Given the description of an element on the screen output the (x, y) to click on. 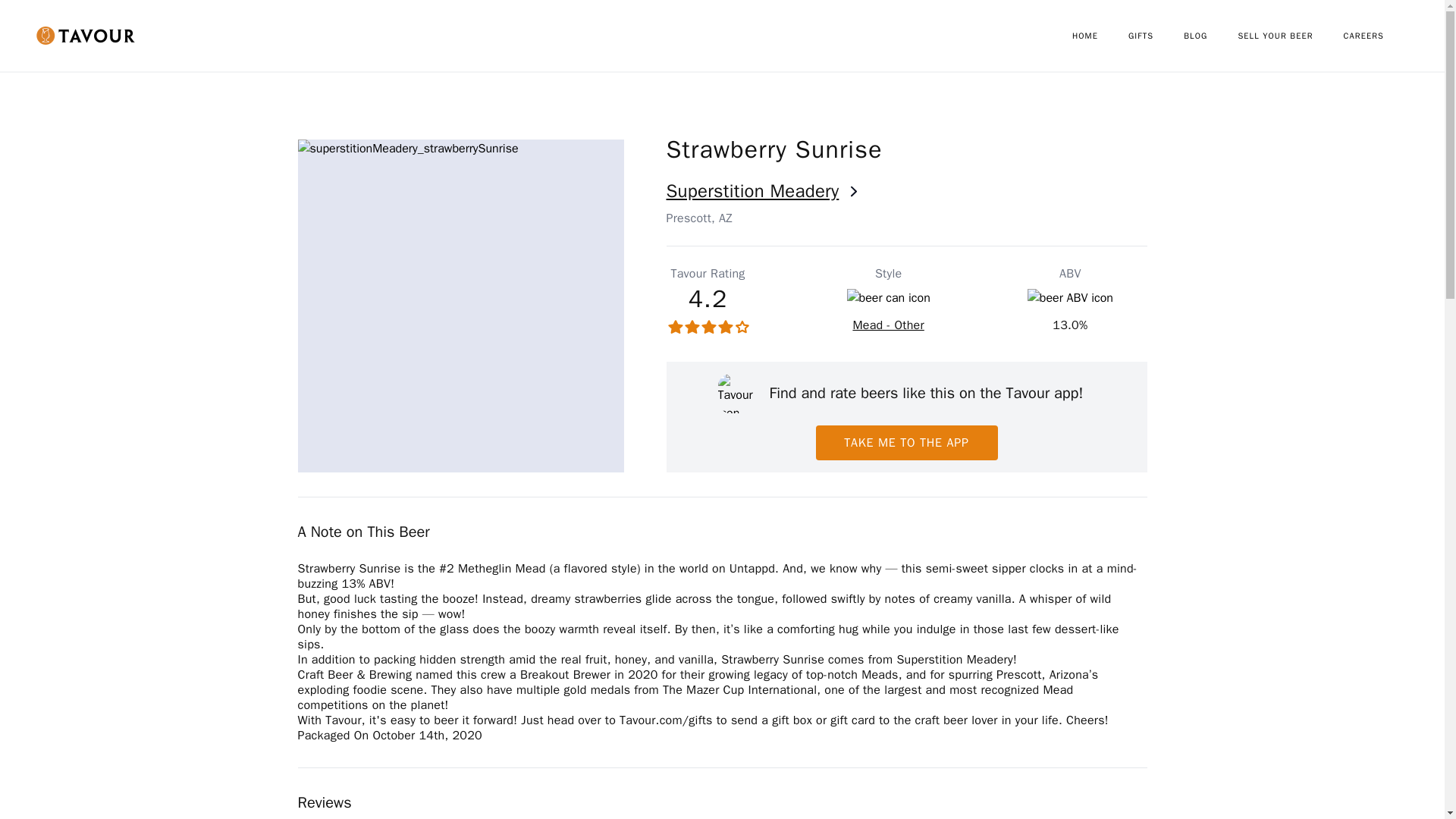
CAREERS (1378, 35)
gifts (1155, 35)
Mead - Other (887, 325)
TAKE ME TO THE APP (906, 442)
HOME (1099, 35)
BLOG (1210, 35)
Superstition Meadery (906, 191)
blog (1210, 35)
GIFTS (1155, 35)
SELL YOUR BEER (1289, 35)
careers (1378, 35)
sell your beer (1289, 35)
home (1099, 35)
